Given the description of an element on the screen output the (x, y) to click on. 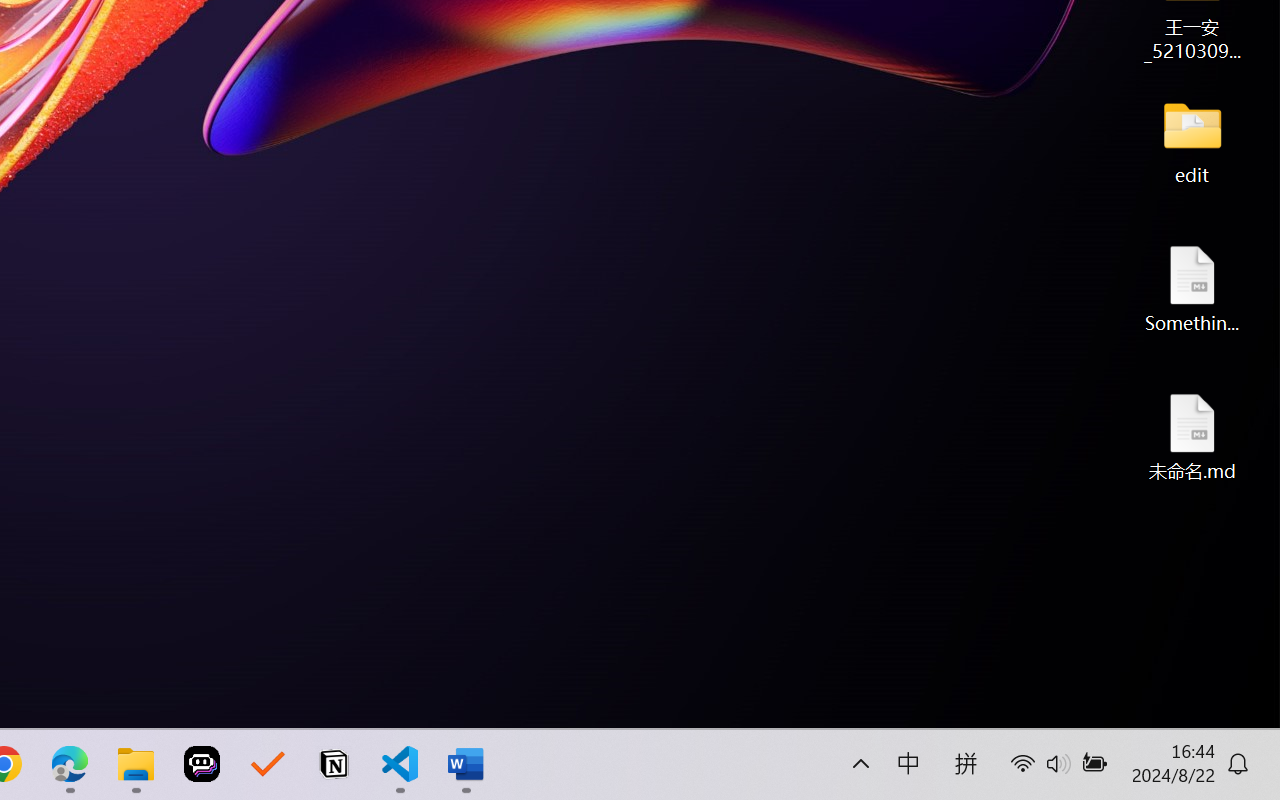
Something.md (1192, 288)
